Given the description of an element on the screen output the (x, y) to click on. 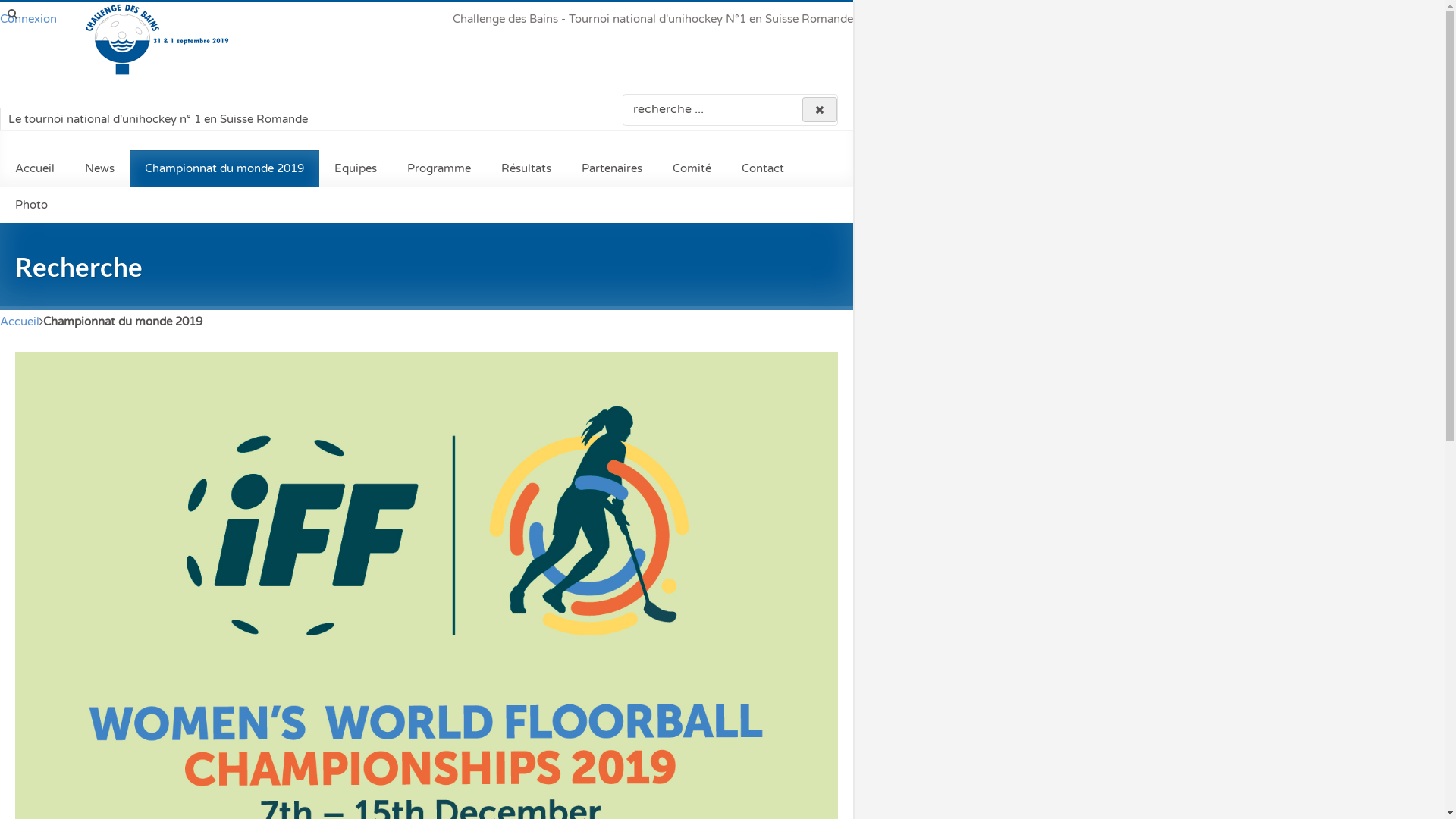
Accueil Element type: text (19, 321)
Partenaires Element type: text (611, 168)
News Element type: text (99, 168)
Equipes Element type: text (355, 168)
Programme Element type: text (439, 168)
Connexion Element type: text (28, 18)
Reset Element type: text (819, 109)
Contact Element type: text (762, 168)
Photo Element type: text (31, 204)
Accueil Element type: text (34, 168)
Championnat du monde 2019 Element type: text (224, 168)
